Given the description of an element on the screen output the (x, y) to click on. 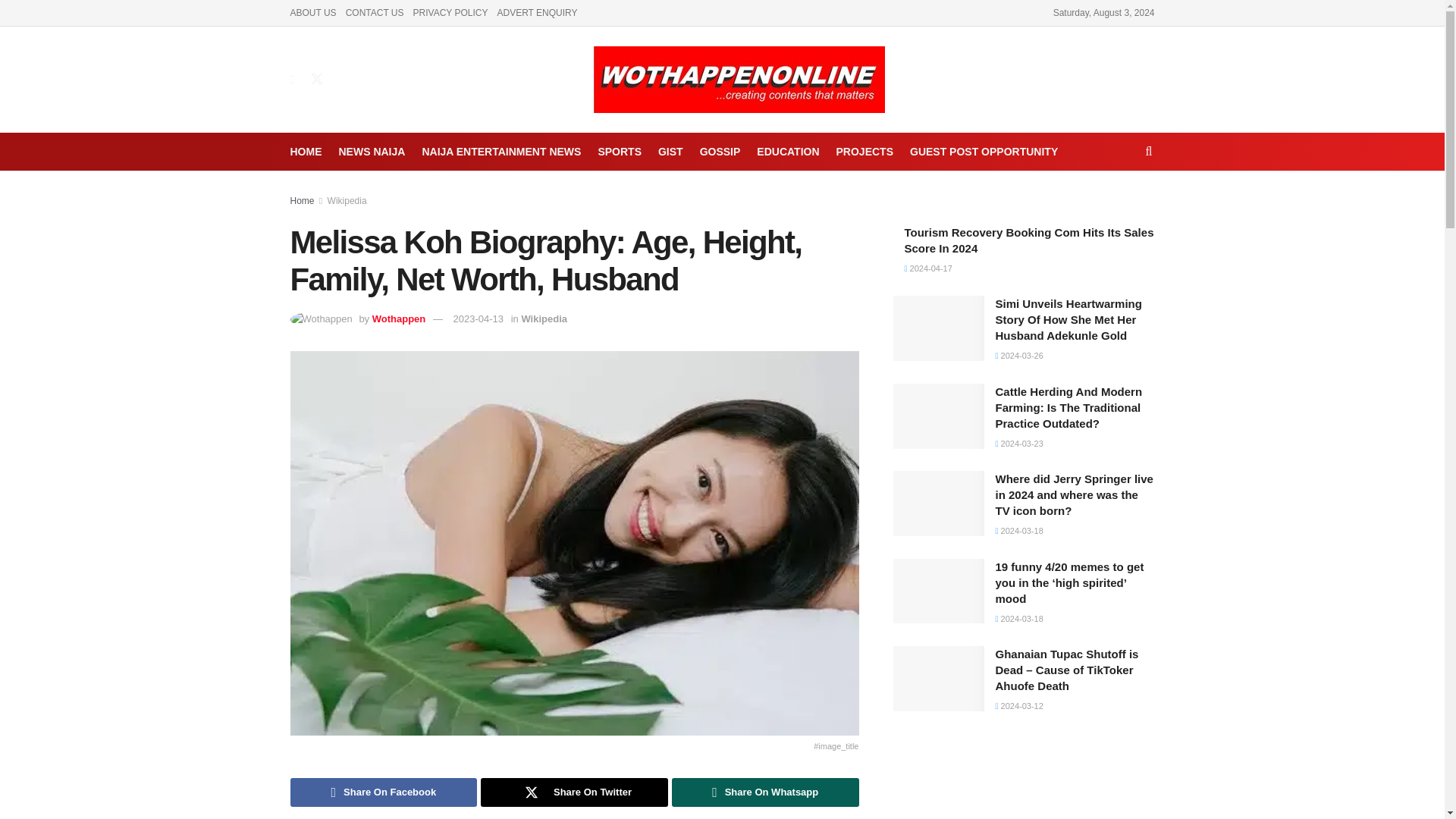
PROJECTS (864, 151)
NEWS NAIJA (370, 151)
ABOUT US (312, 12)
SPORTS (619, 151)
ADVERT ENQUIRY (536, 12)
NAIJA ENTERTAINMENT NEWS (501, 151)
GOSSIP (720, 151)
GUEST POST OPPORTUNITY (984, 151)
HOME (305, 151)
PRIVACY POLICY (450, 12)
CONTACT US (375, 12)
EDUCATION (787, 151)
GIST (670, 151)
